Given the description of an element on the screen output the (x, y) to click on. 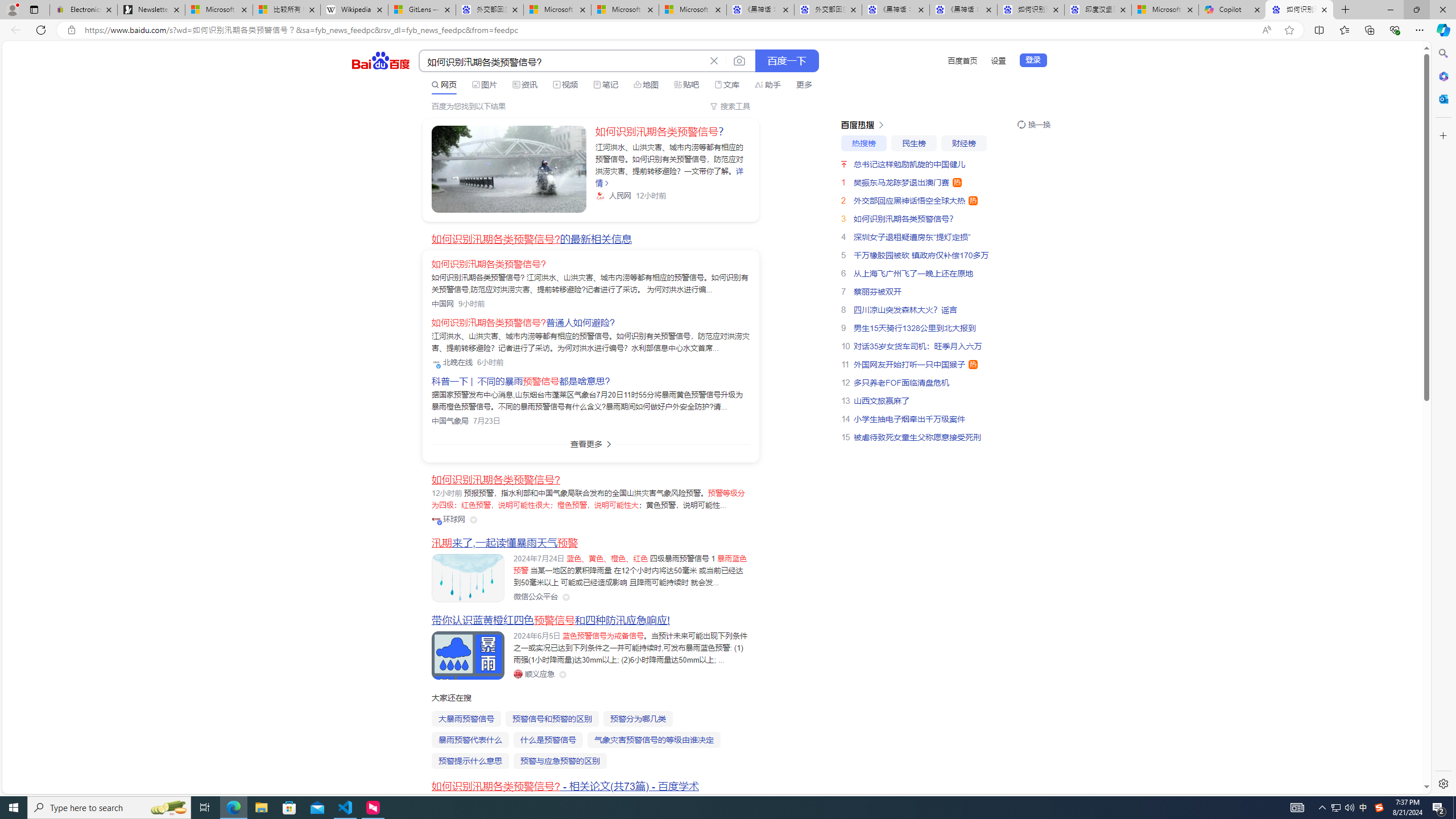
AutomationID: kw (562, 61)
Newsletter Sign Up (150, 9)
